Given the description of an element on the screen output the (x, y) to click on. 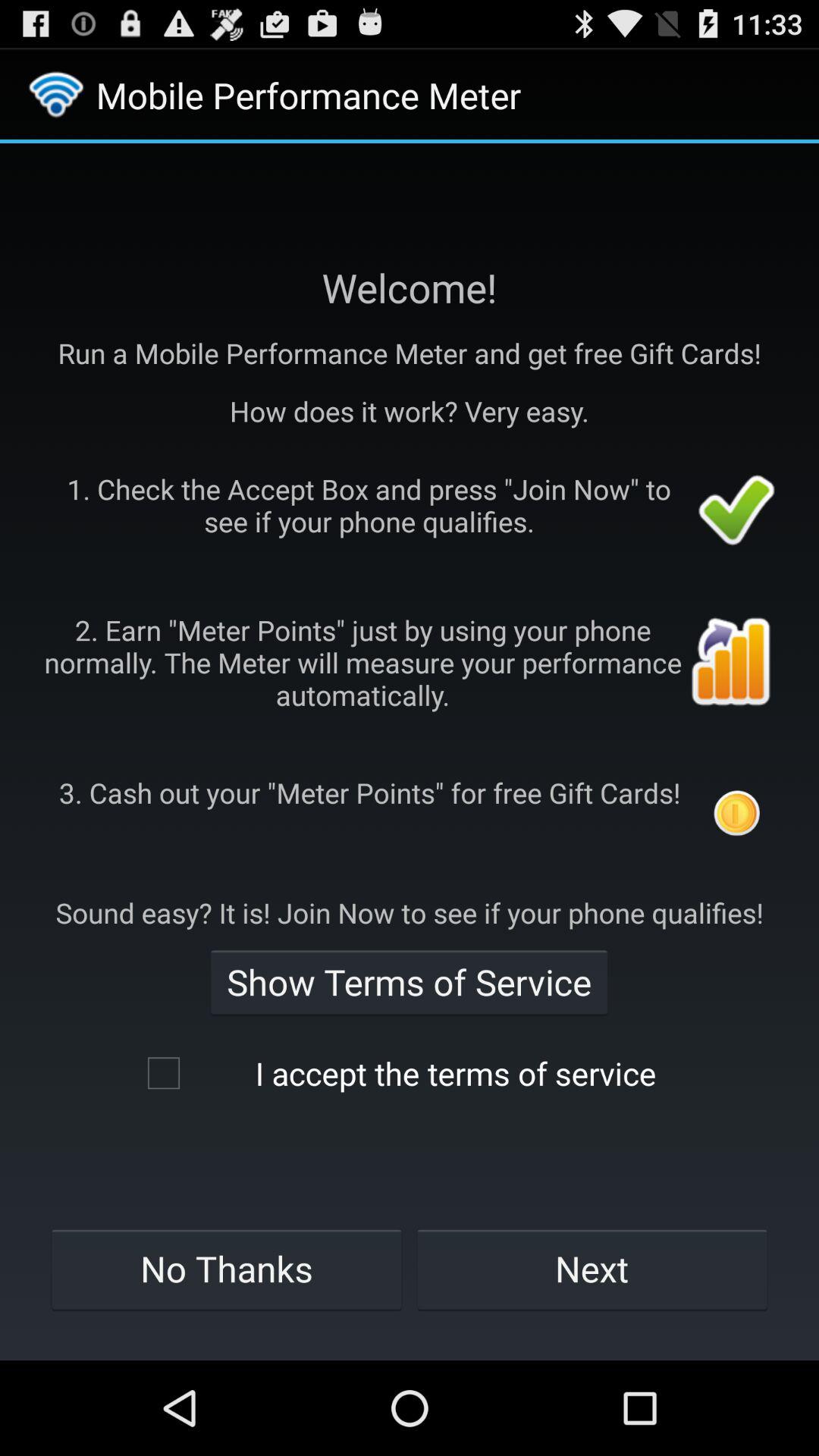
jump until next item (592, 1268)
